Given the description of an element on the screen output the (x, y) to click on. 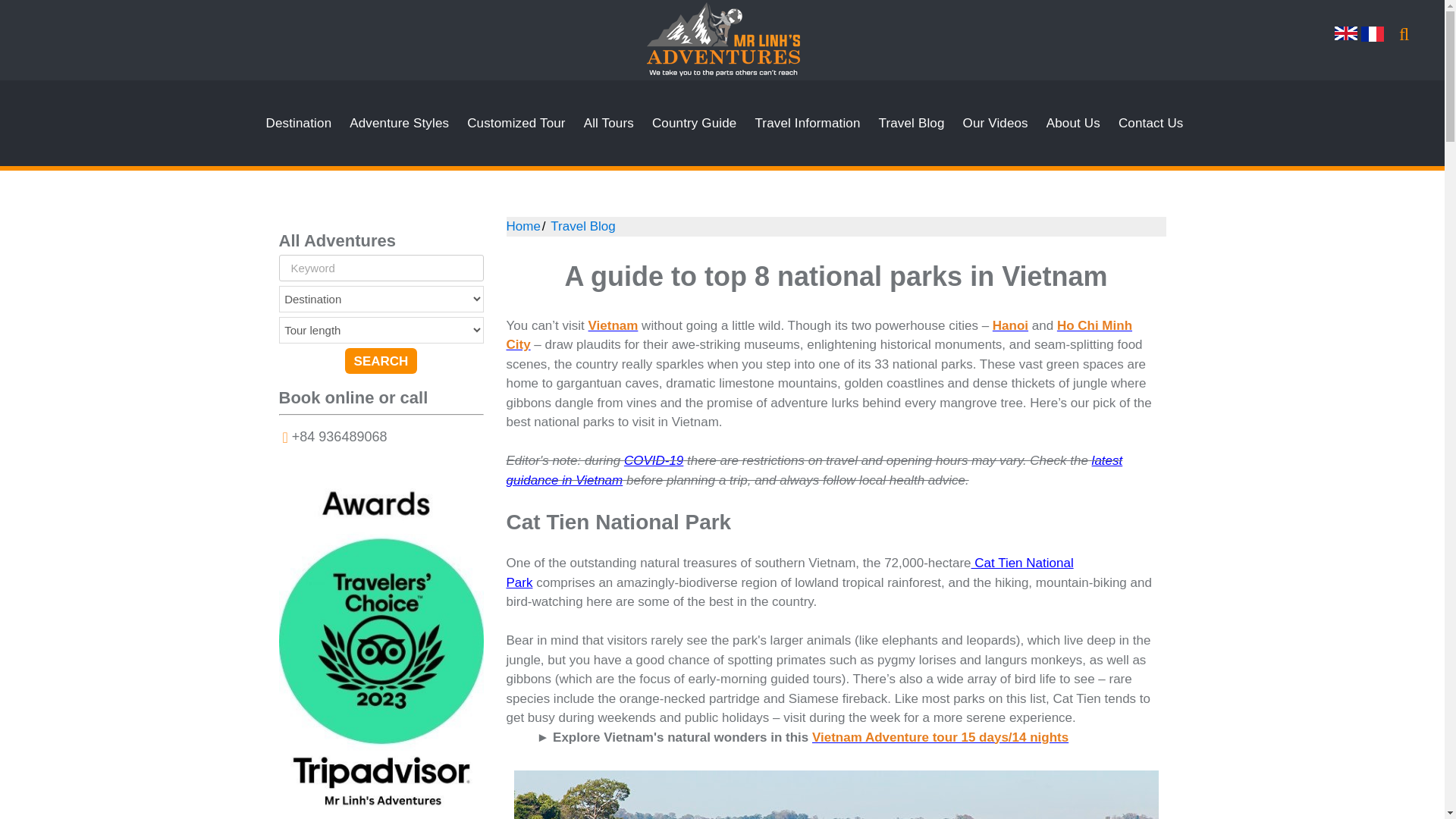
Customized Tour (516, 123)
Destination (298, 123)
Adventure Styles (399, 123)
Country Guide (694, 123)
